Given the description of an element on the screen output the (x, y) to click on. 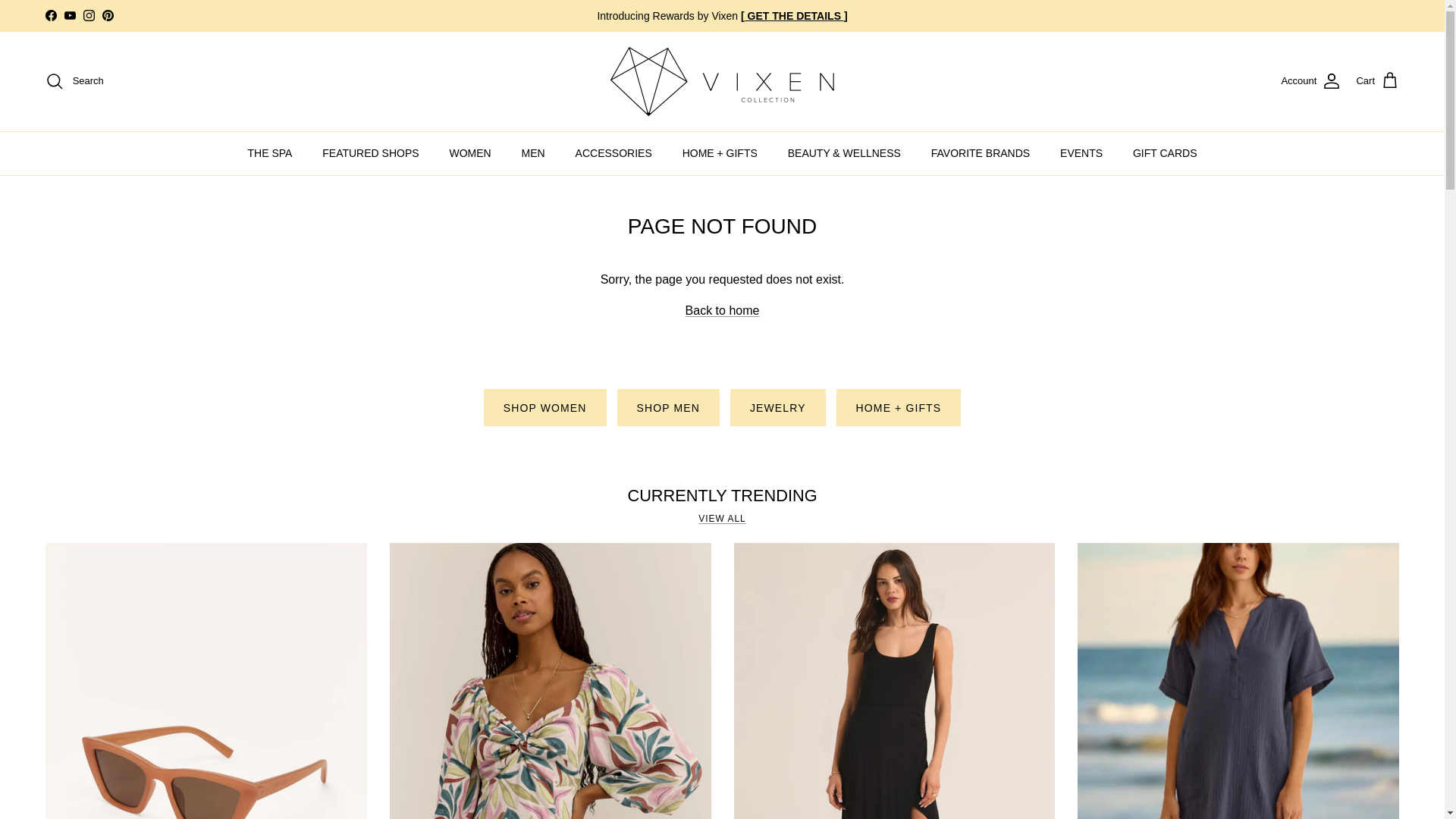
Vixen Collection (722, 81)
Vixen Collection on YouTube (69, 15)
Vixen Collection on Instagram (88, 15)
Vixen Collection on Facebook (50, 15)
Facebook (50, 15)
Cart (1377, 80)
Vixen Collection on Pinterest (107, 15)
Search (74, 81)
THE SPA (268, 153)
Pinterest (107, 15)
